Given the description of an element on the screen output the (x, y) to click on. 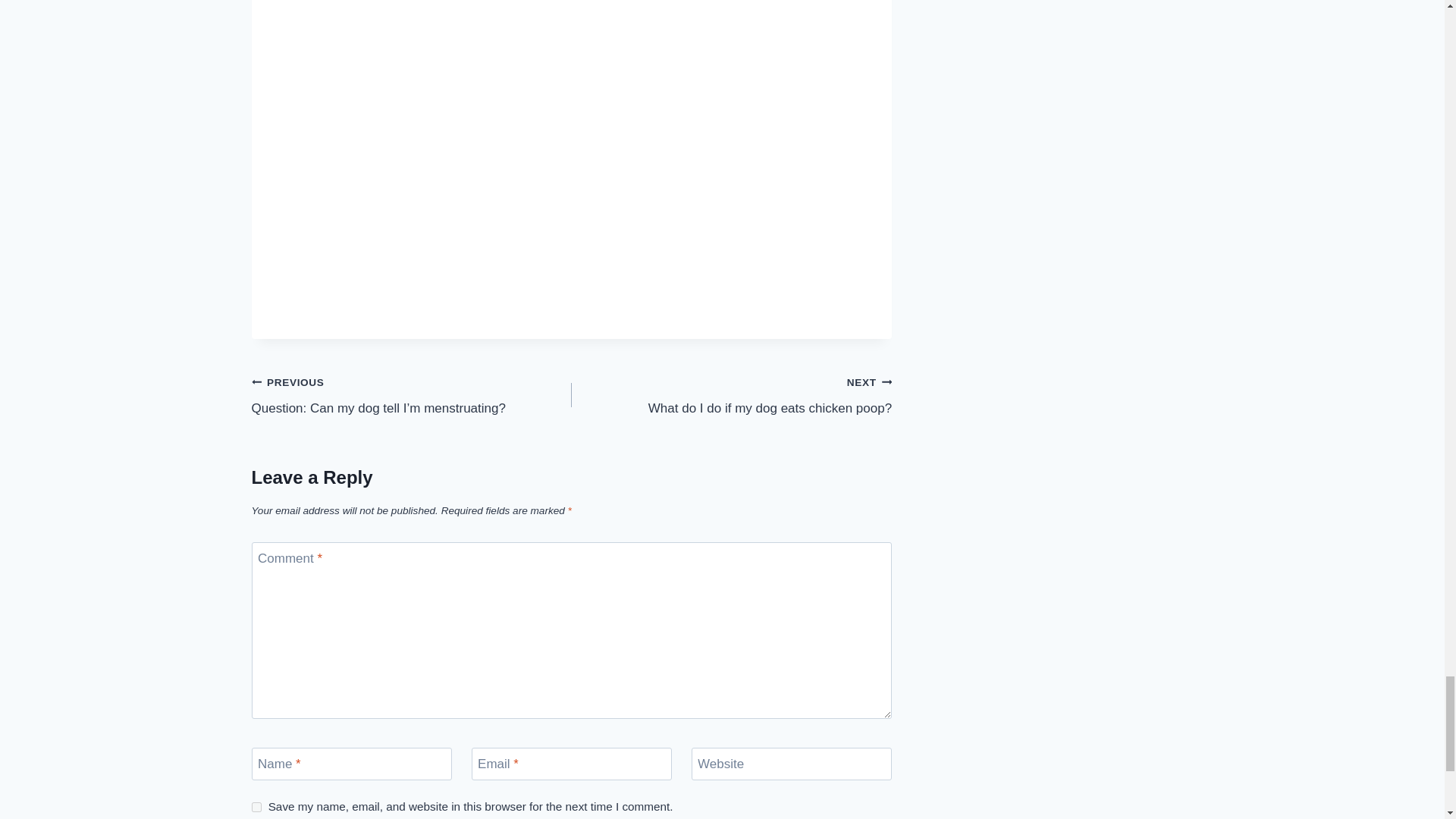
yes (256, 807)
